Given the description of an element on the screen output the (x, y) to click on. 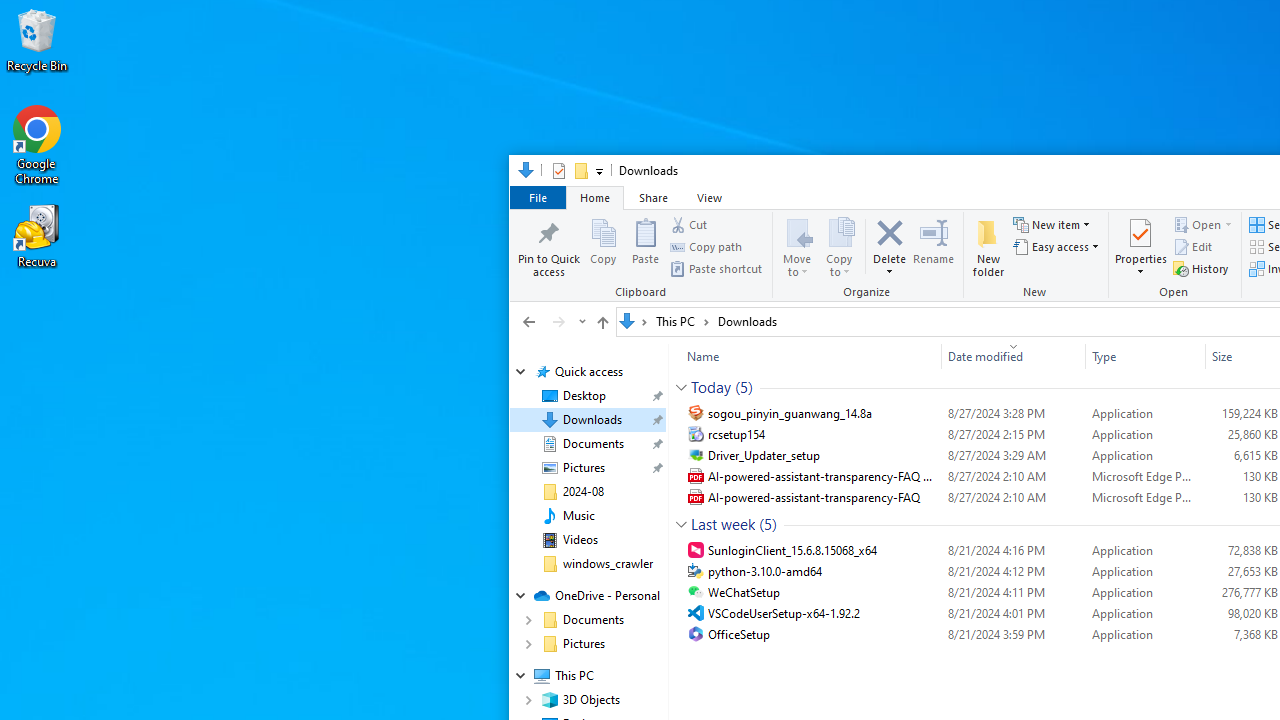
This PC (682, 321)
File tab (537, 196)
Open (1228, 224)
Quick Access Toolbar (569, 170)
Recent locations (580, 321)
2024-08 (582, 491)
System (520, 173)
Open (1176, 255)
Videos (580, 539)
Music (578, 515)
Pin to Quick access (548, 246)
Count (767, 524)
